Given the description of an element on the screen output the (x, y) to click on. 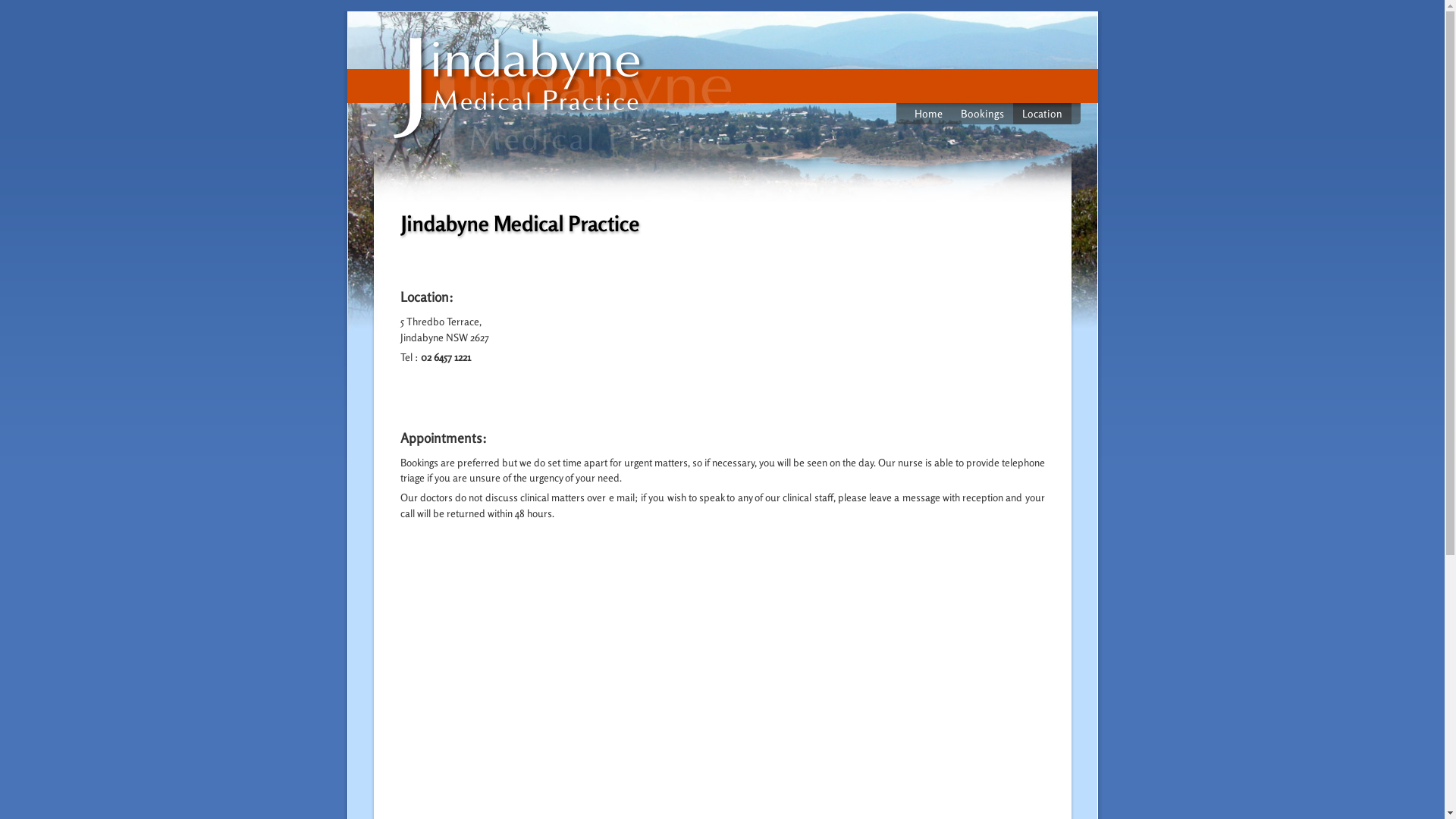
Bookings Element type: text (981, 113)
Home Element type: text (928, 113)
Location Element type: text (1042, 113)
Jindabyne Medical Practice Element type: text (516, 88)
